Given the description of an element on the screen output the (x, y) to click on. 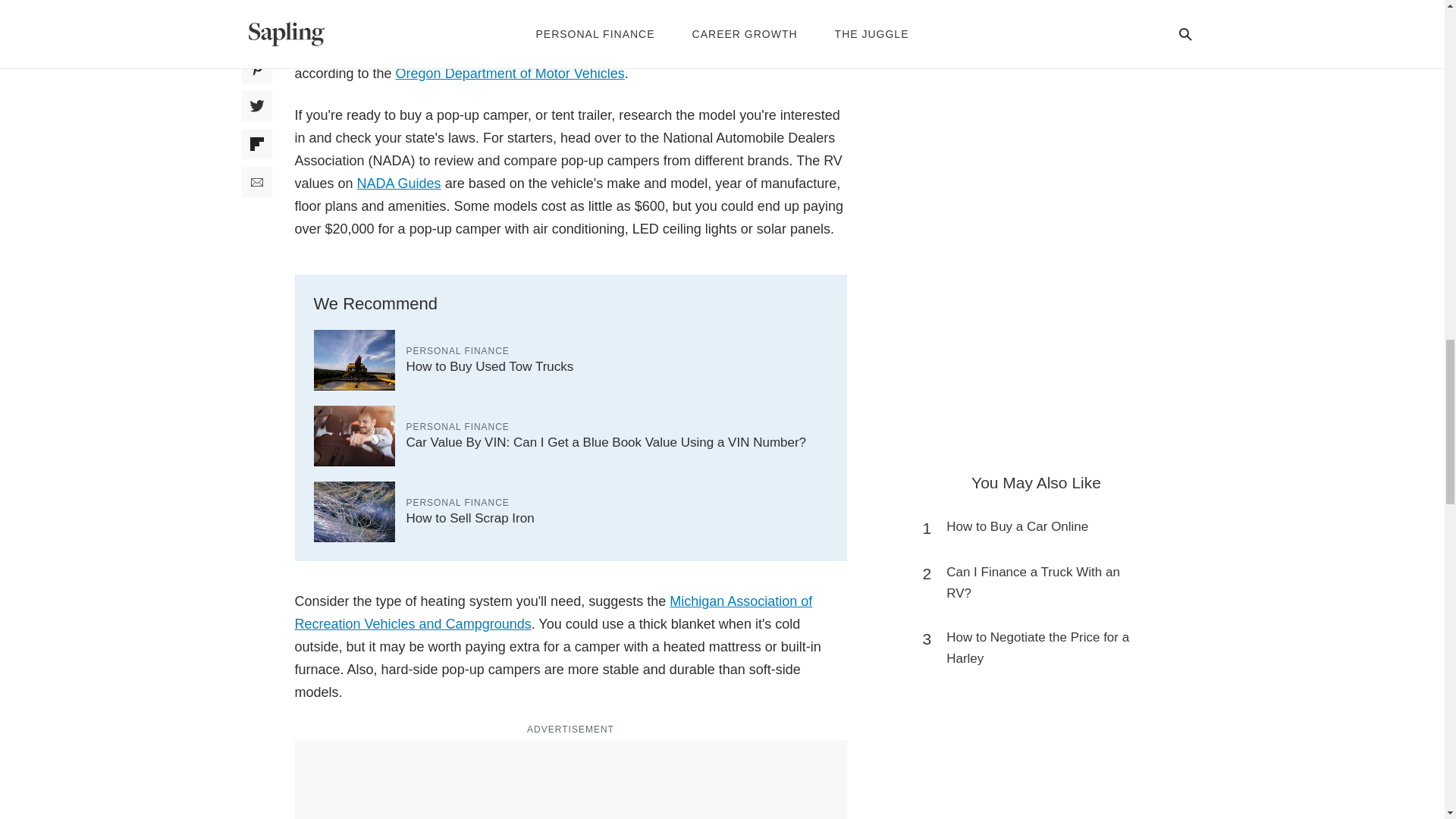
Can I Finance a Truck With an RV? (1043, 582)
How to Buy a Car Online (1016, 526)
Oregon Department of Motor Vehicles (510, 73)
How to Negotiate the Price for a Harley (1043, 648)
